Given the description of an element on the screen output the (x, y) to click on. 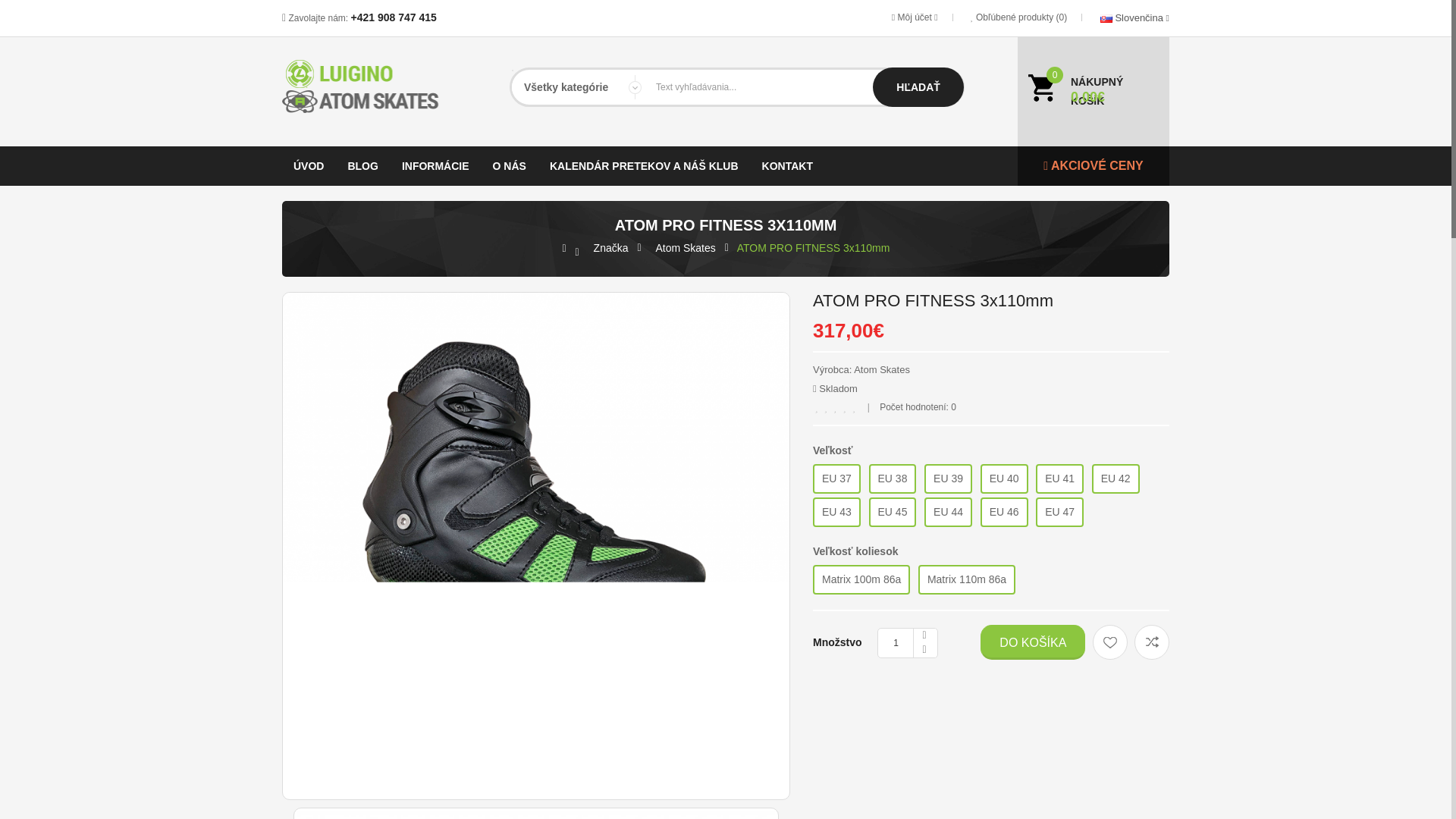
ATOM PRO FITNESS 3x110mm (536, 813)
Atom Skates (684, 248)
LUIGINO (373, 86)
ATOM PRO FITNESS 3x110mm (535, 815)
Atom Skates (881, 369)
BLOG (362, 165)
KONTAKT (787, 165)
1 (907, 643)
ATOM PRO FITNESS 3x110mm (812, 248)
